Given the description of an element on the screen output the (x, y) to click on. 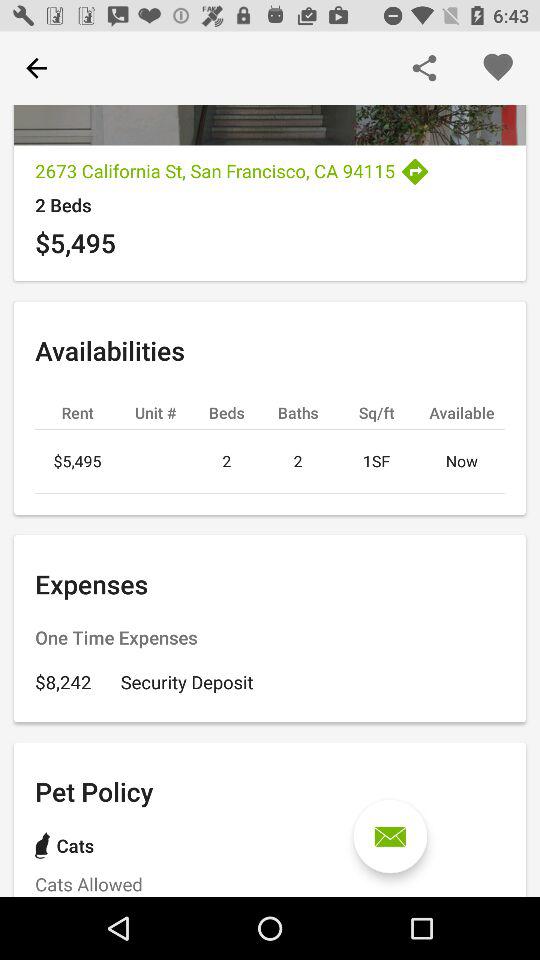
share the page (424, 68)
